Given the description of an element on the screen output the (x, y) to click on. 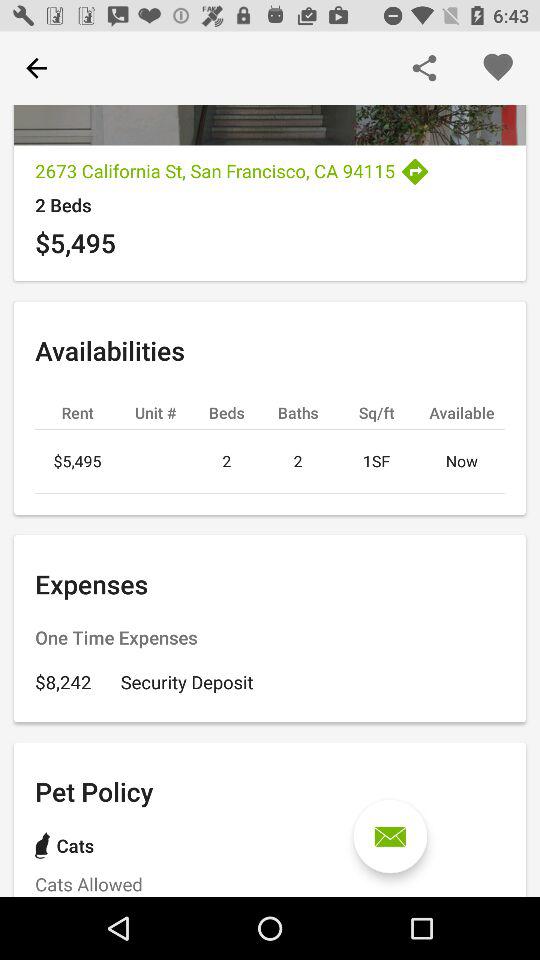
share the page (424, 68)
